Given the description of an element on the screen output the (x, y) to click on. 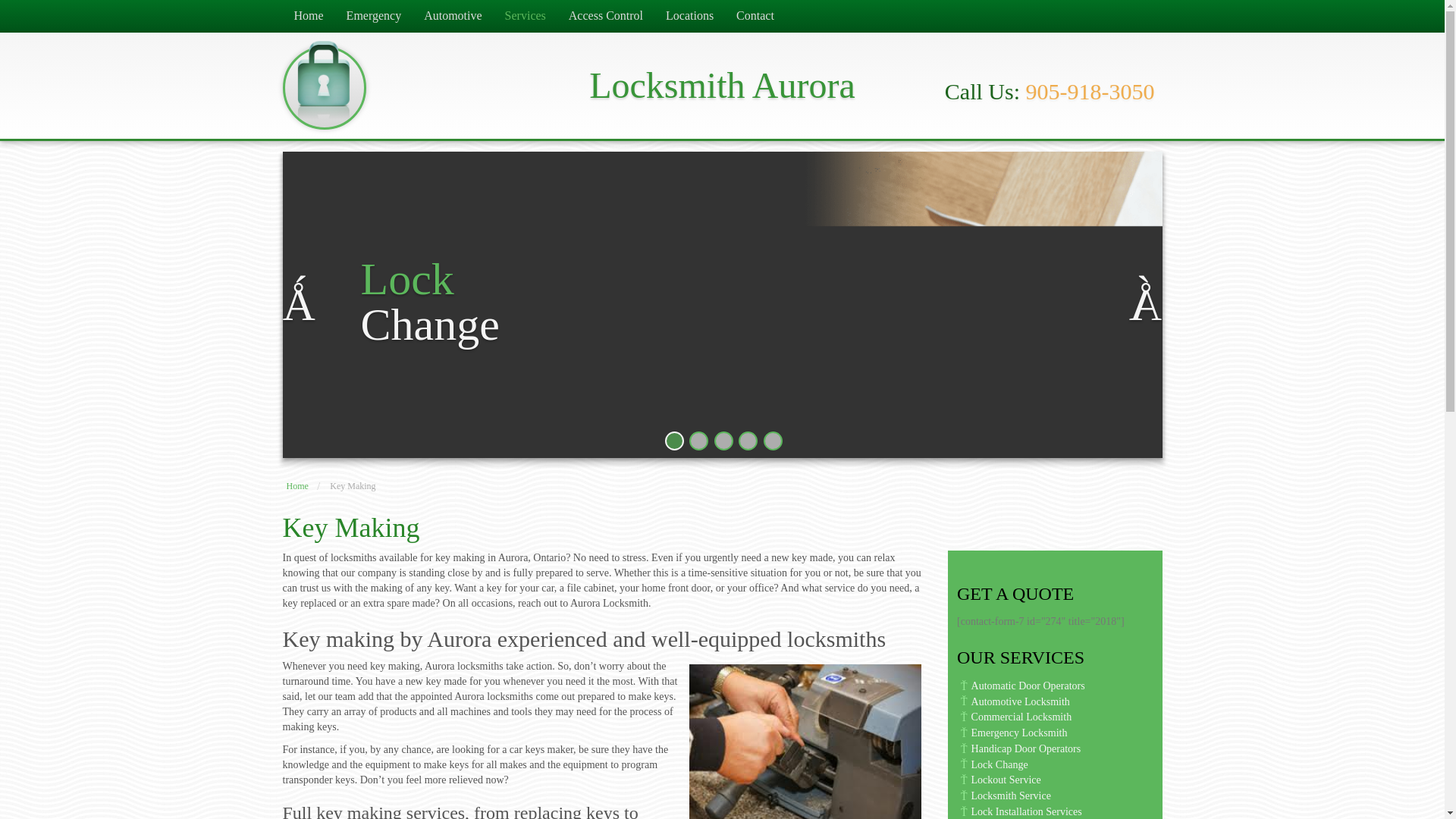
Home (308, 16)
Services (525, 16)
Automotive (452, 16)
Emergency (373, 16)
Access Control (605, 16)
